Given the description of an element on the screen output the (x, y) to click on. 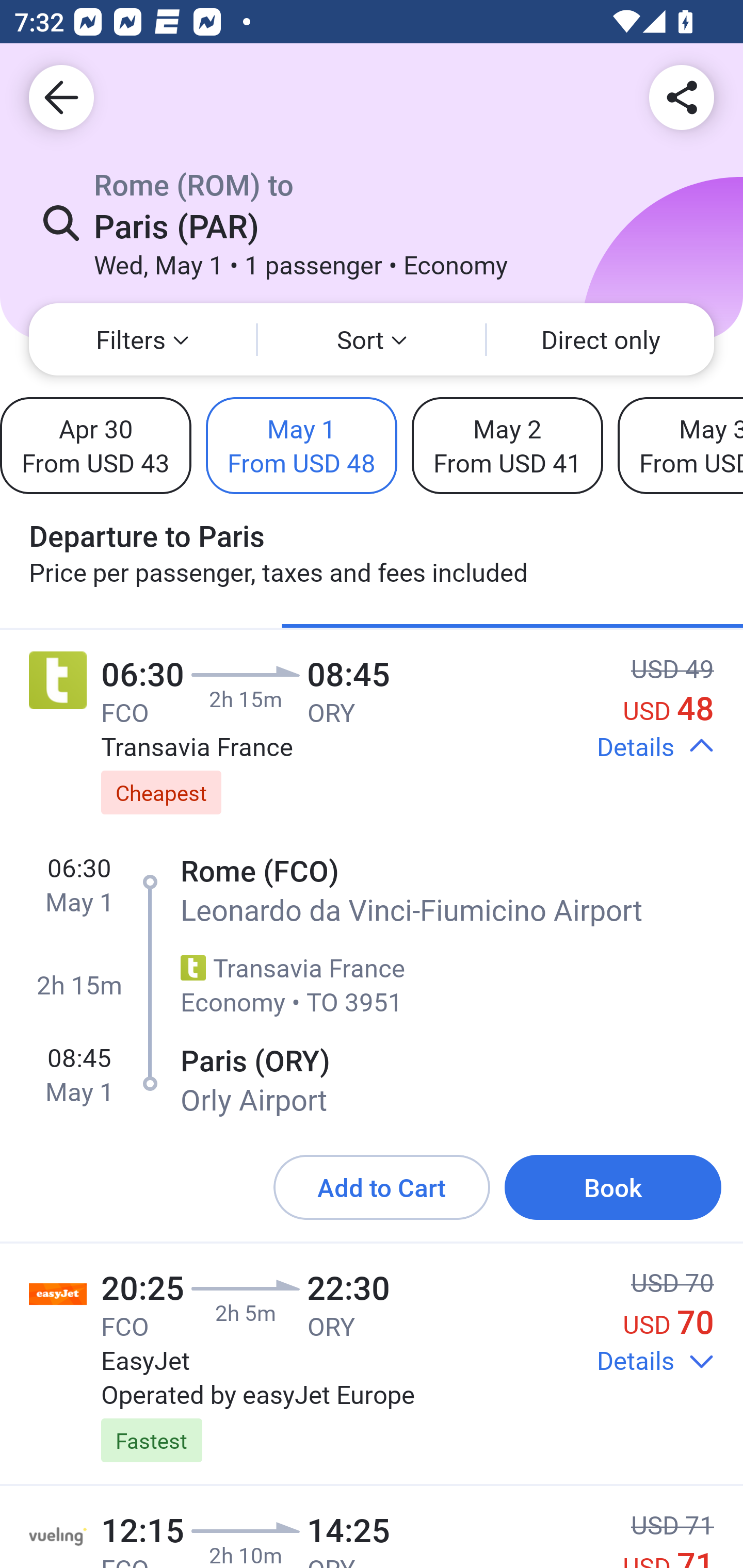
Filters (141, 339)
Sort (371, 339)
Direct only (600, 339)
Apr 30 From USD 43 (95, 444)
May 1 From USD 48 (301, 444)
May 2 From USD 41 (507, 444)
May 3 From USD 51 (680, 444)
Add to Cart (381, 1187)
Book (612, 1187)
